Given the description of an element on the screen output the (x, y) to click on. 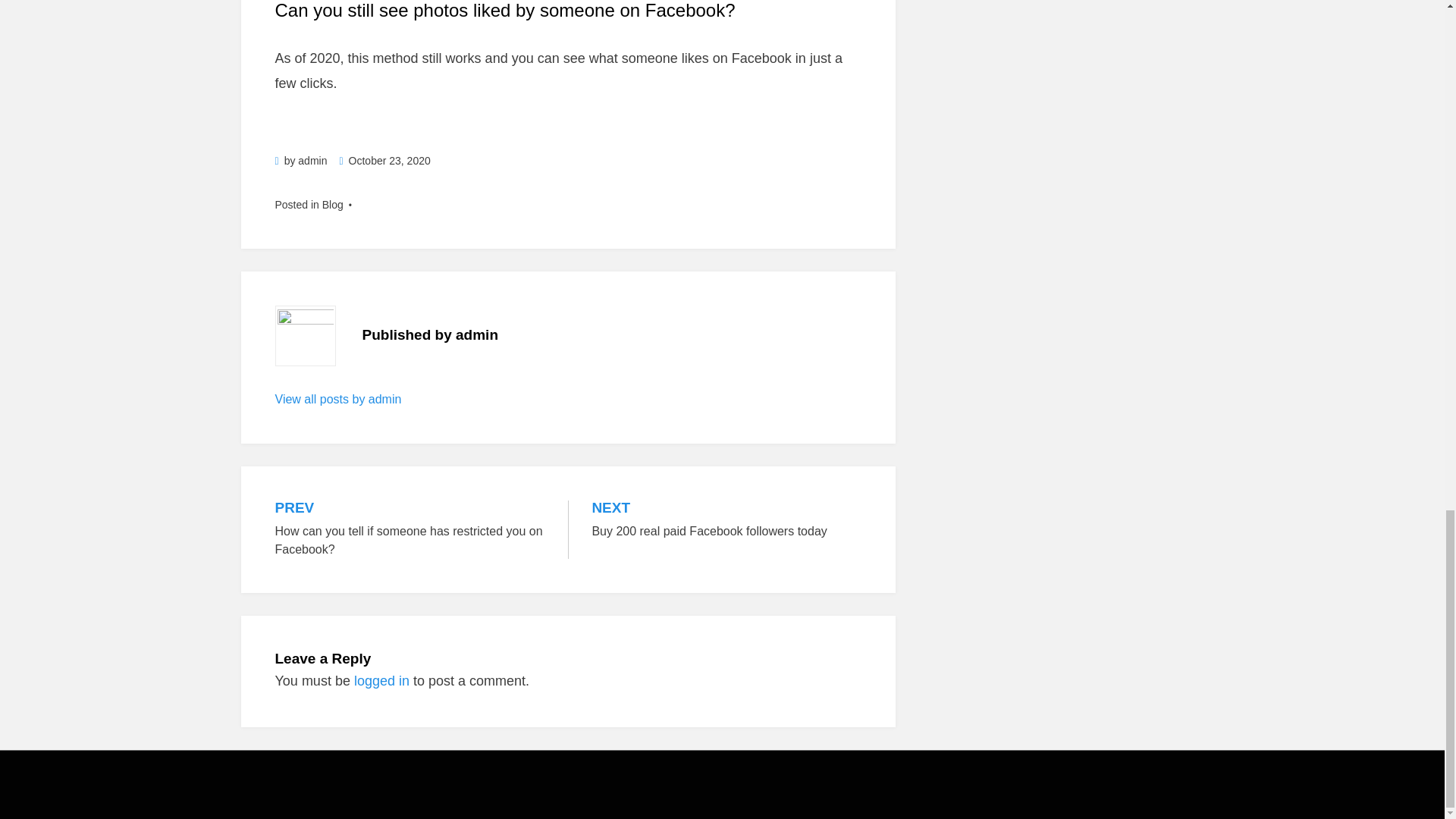
WordPress (481, 796)
TemplatePocket (365, 796)
View all posts by admin (338, 399)
October 23, 2020 (384, 160)
TemplatePocket (365, 796)
logged in (381, 680)
WordPress (481, 796)
admin (312, 160)
Blog (726, 520)
